Given the description of an element on the screen output the (x, y) to click on. 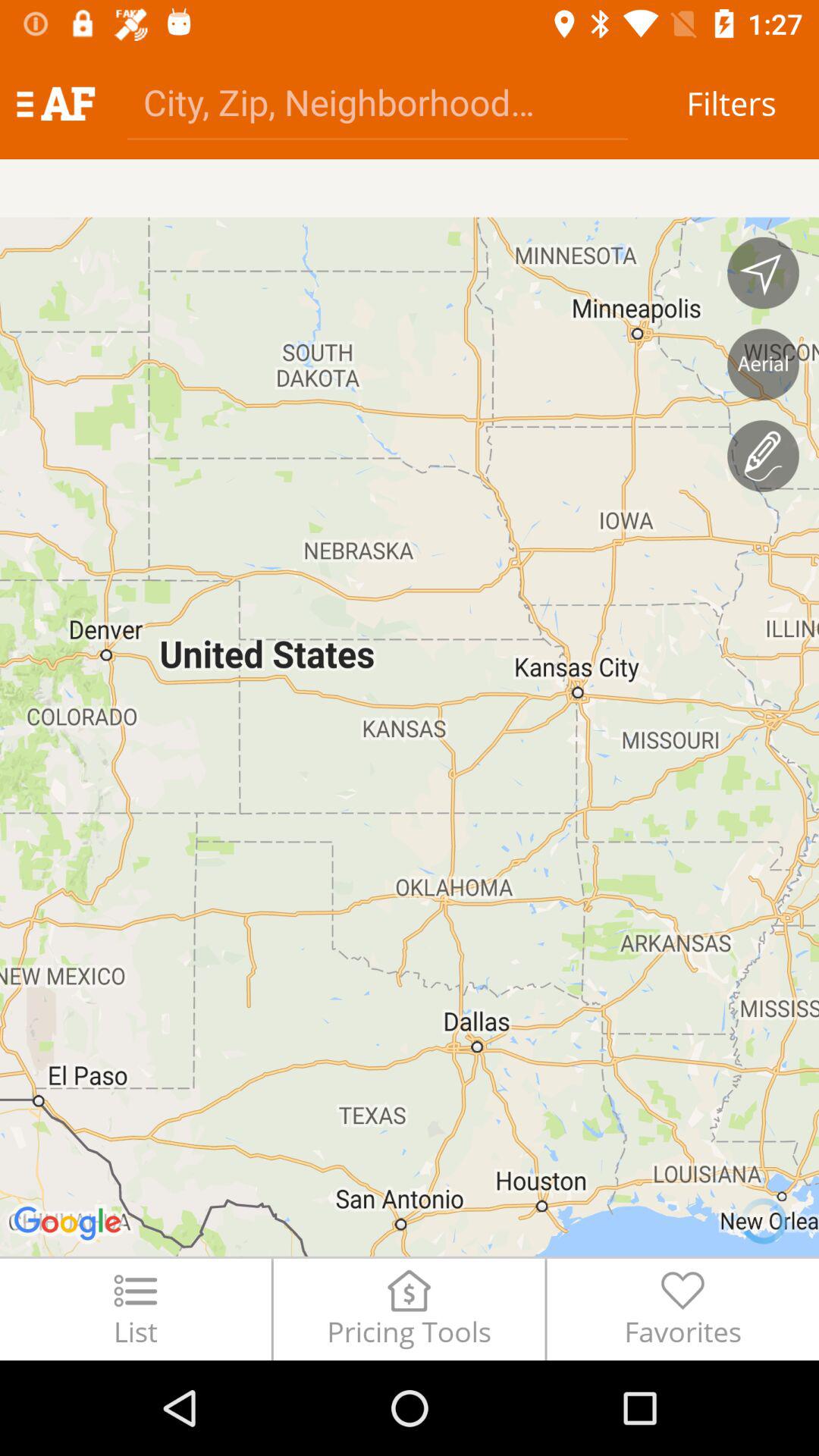
tap the icon above the thousands of apartments (55, 103)
